Given the description of an element on the screen output the (x, y) to click on. 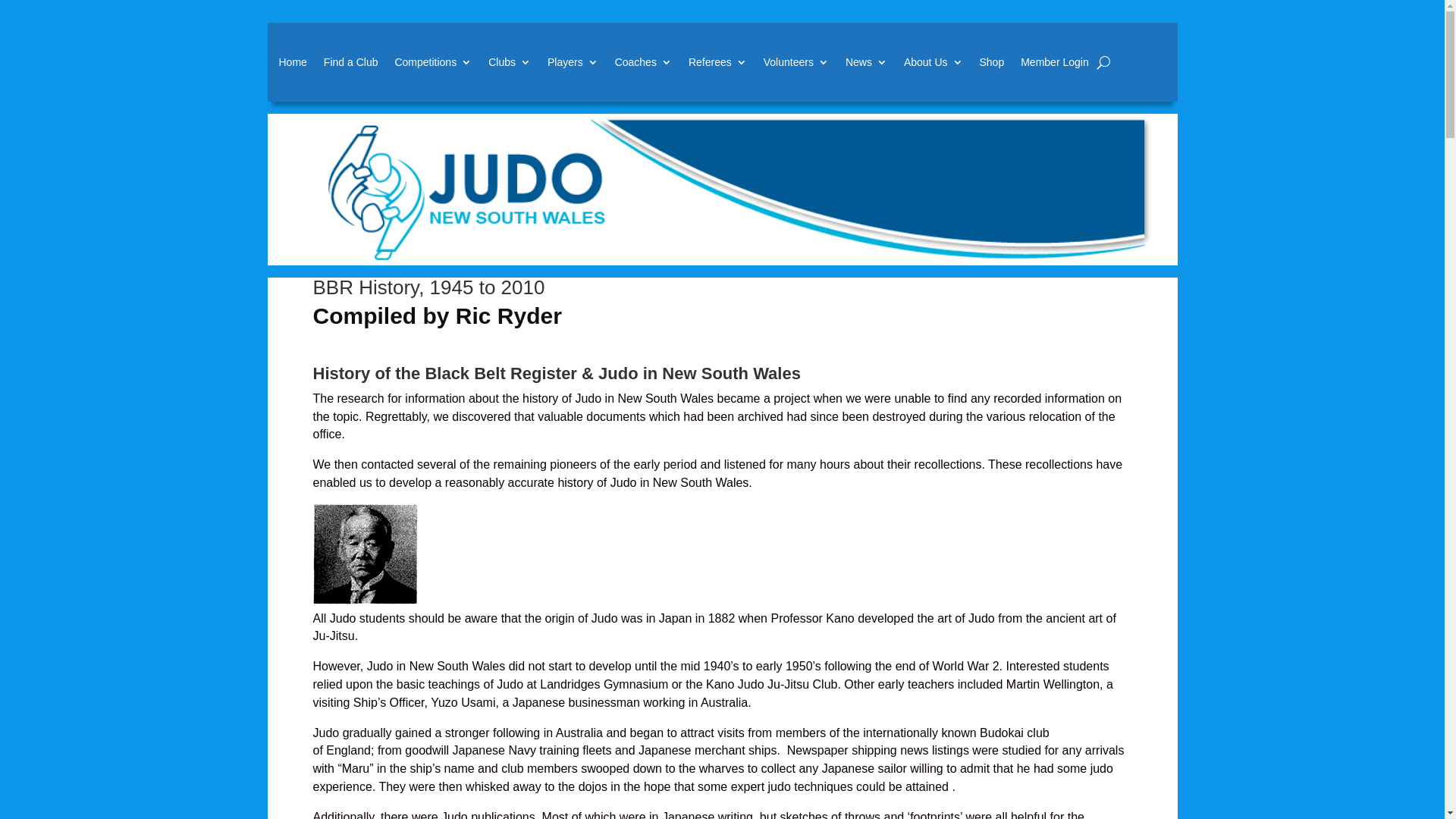
Volunteers Element type: text (795, 62)
Shop Element type: text (991, 62)
Home Element type: text (293, 62)
Competitions Element type: text (432, 62)
Referees Element type: text (717, 62)
About Us Element type: text (933, 62)
News Element type: text (866, 62)
Clubs Element type: text (509, 62)
Find a Club Element type: text (350, 62)
Coaches Element type: text (643, 62)
Member Login Element type: text (1054, 62)
Players Element type: text (572, 62)
judo-nsw-wide Element type: hover (722, 189)
